Given the description of an element on the screen output the (x, y) to click on. 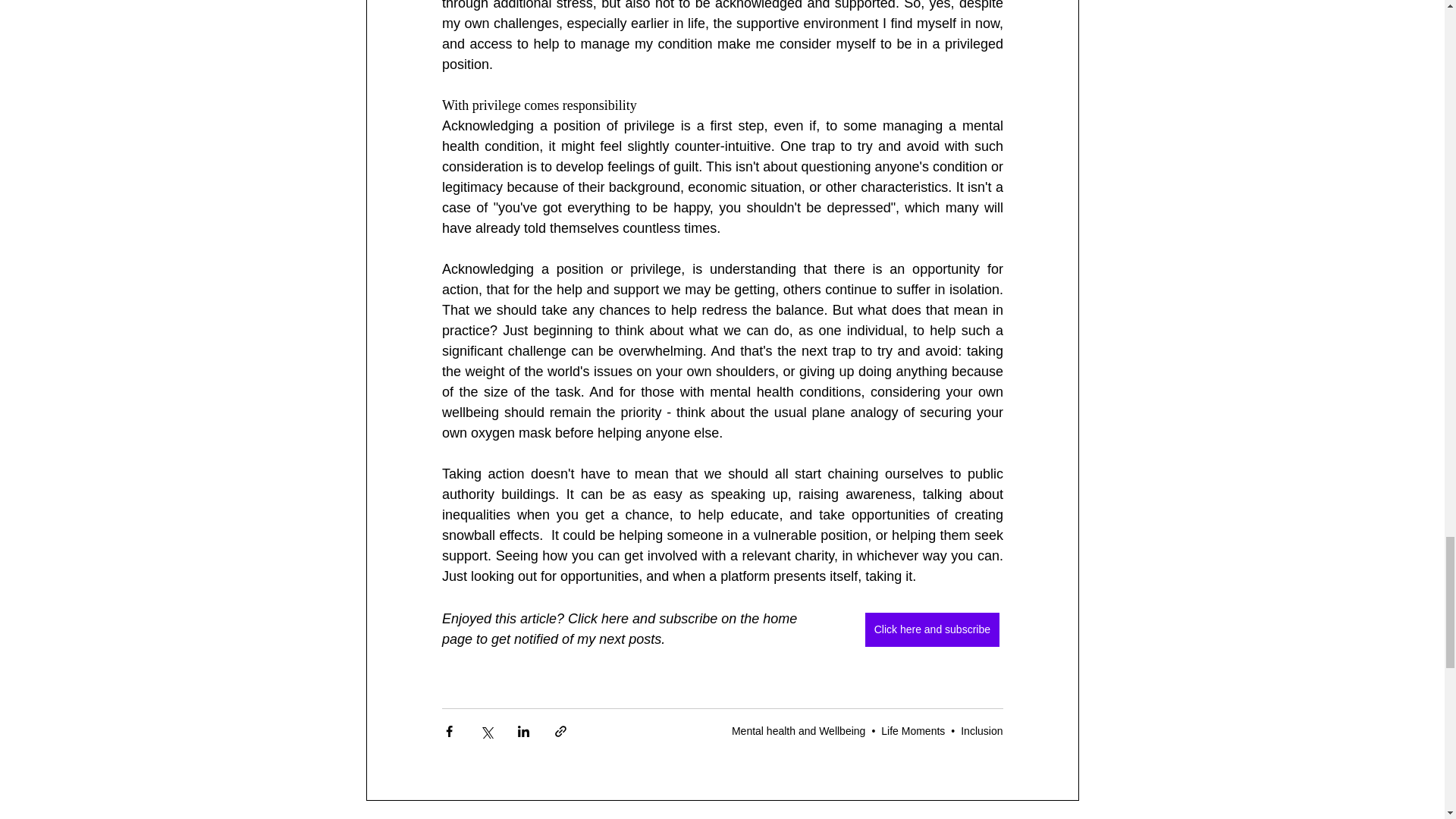
Inclusion (981, 730)
Click here and subscribe (931, 629)
Life Moments (912, 730)
Mental health and Wellbeing (798, 730)
